Given the description of an element on the screen output the (x, y) to click on. 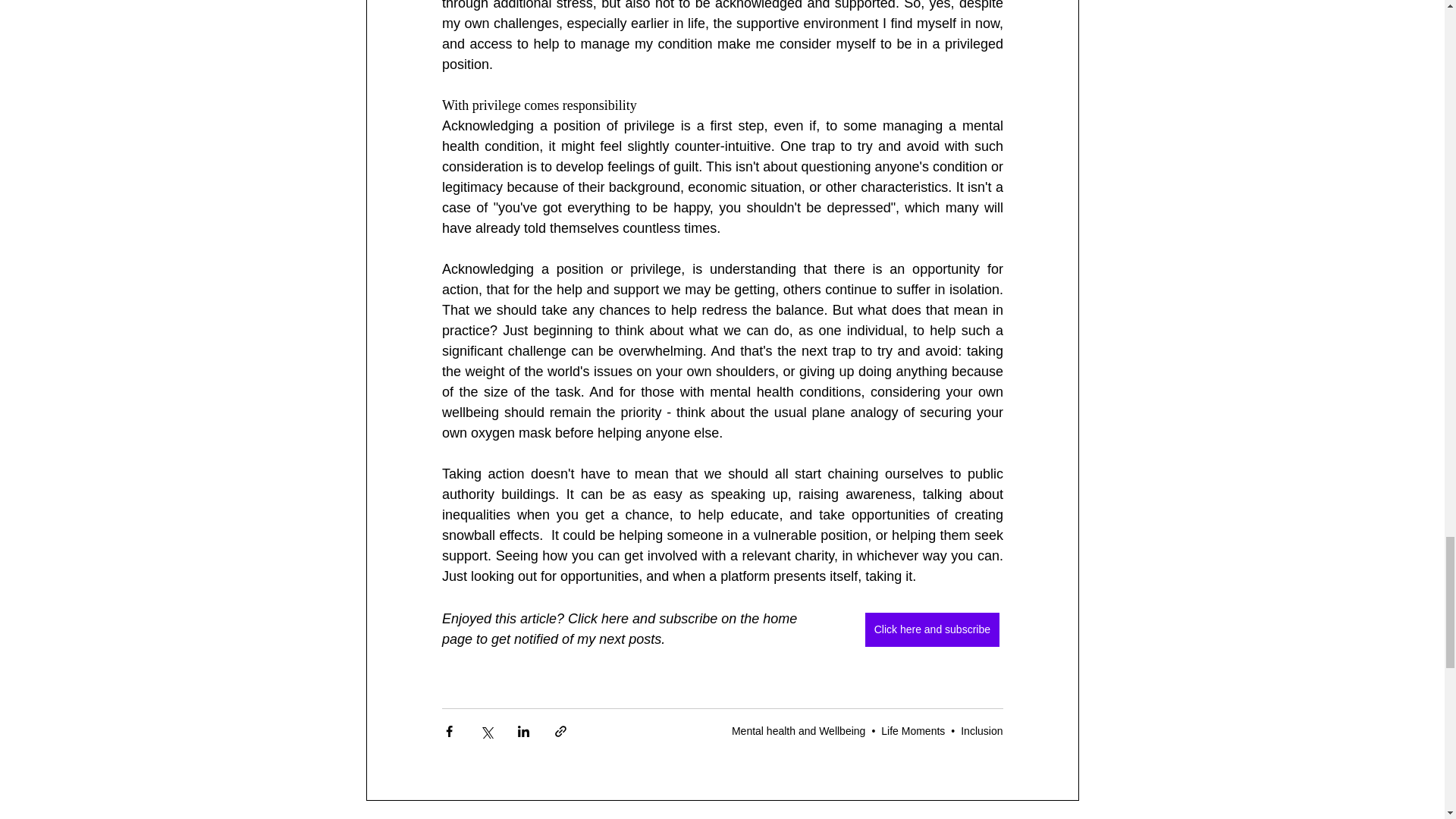
Inclusion (981, 730)
Click here and subscribe (931, 629)
Life Moments (912, 730)
Mental health and Wellbeing (798, 730)
